Given the description of an element on the screen output the (x, y) to click on. 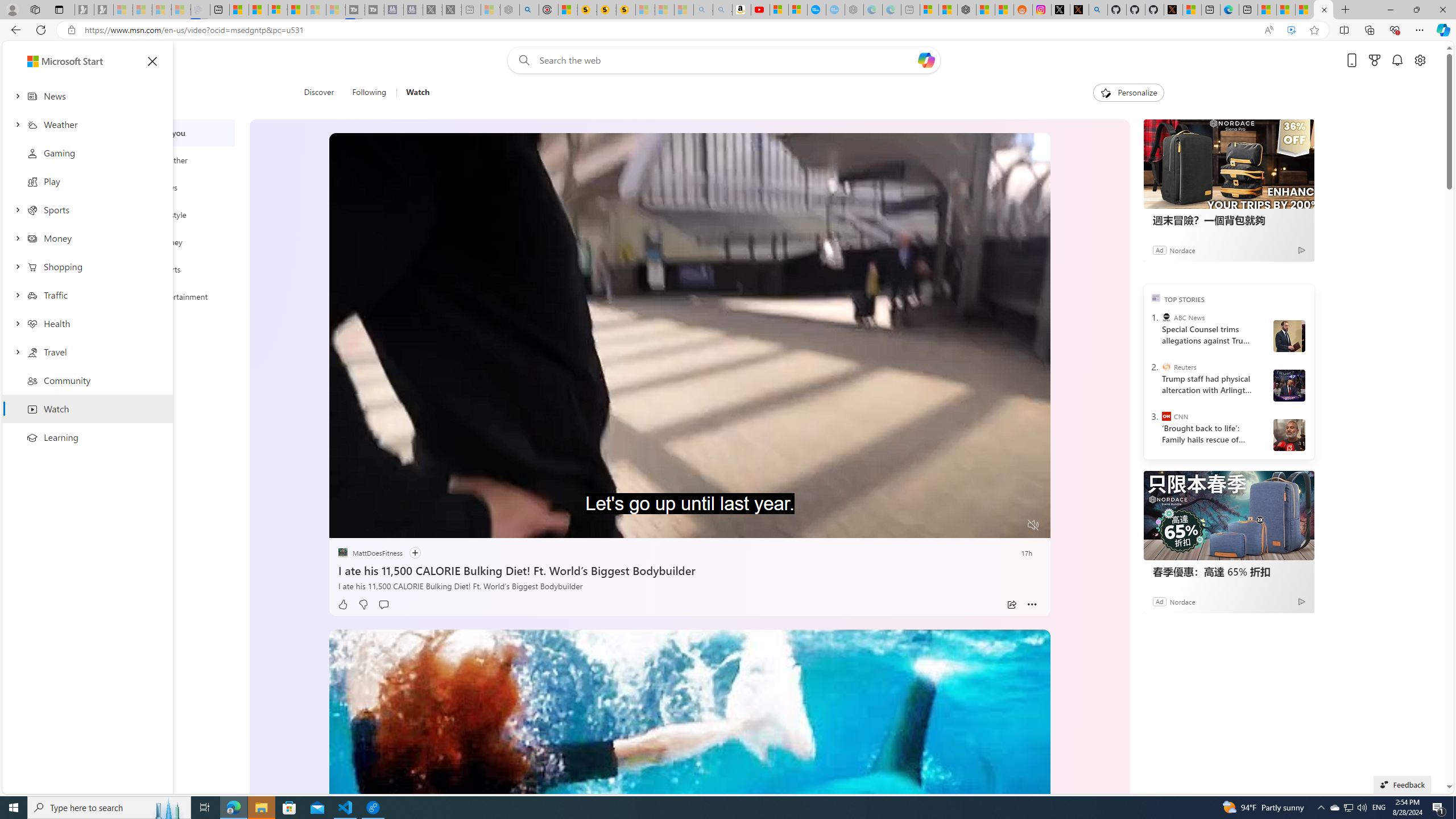
Web search (520, 60)
CNN (1165, 415)
Enhance video (1291, 29)
Captions (988, 525)
